Given the description of an element on the screen output the (x, y) to click on. 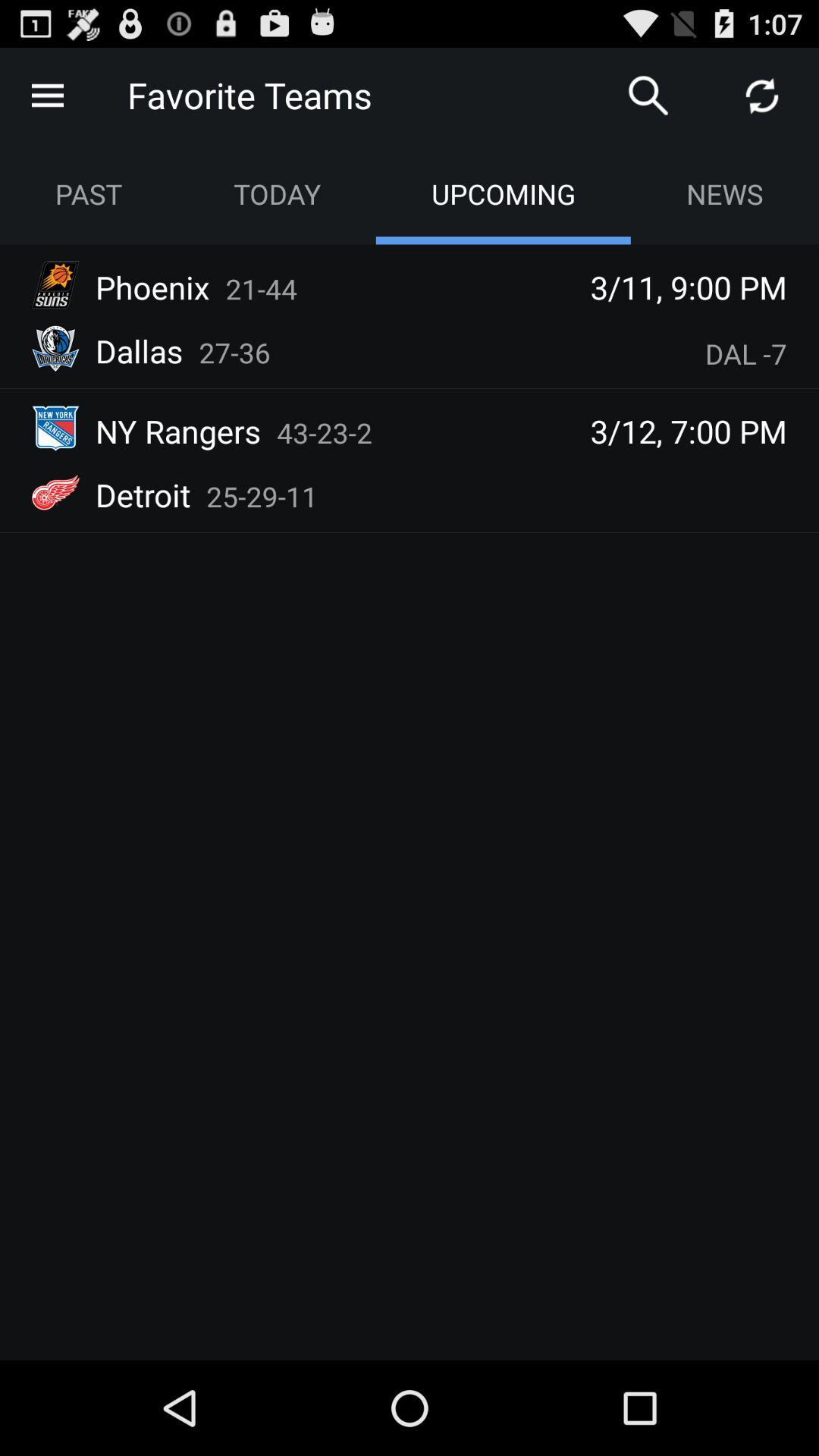
tap the app below the phoenix icon (139, 350)
